Given the description of an element on the screen output the (x, y) to click on. 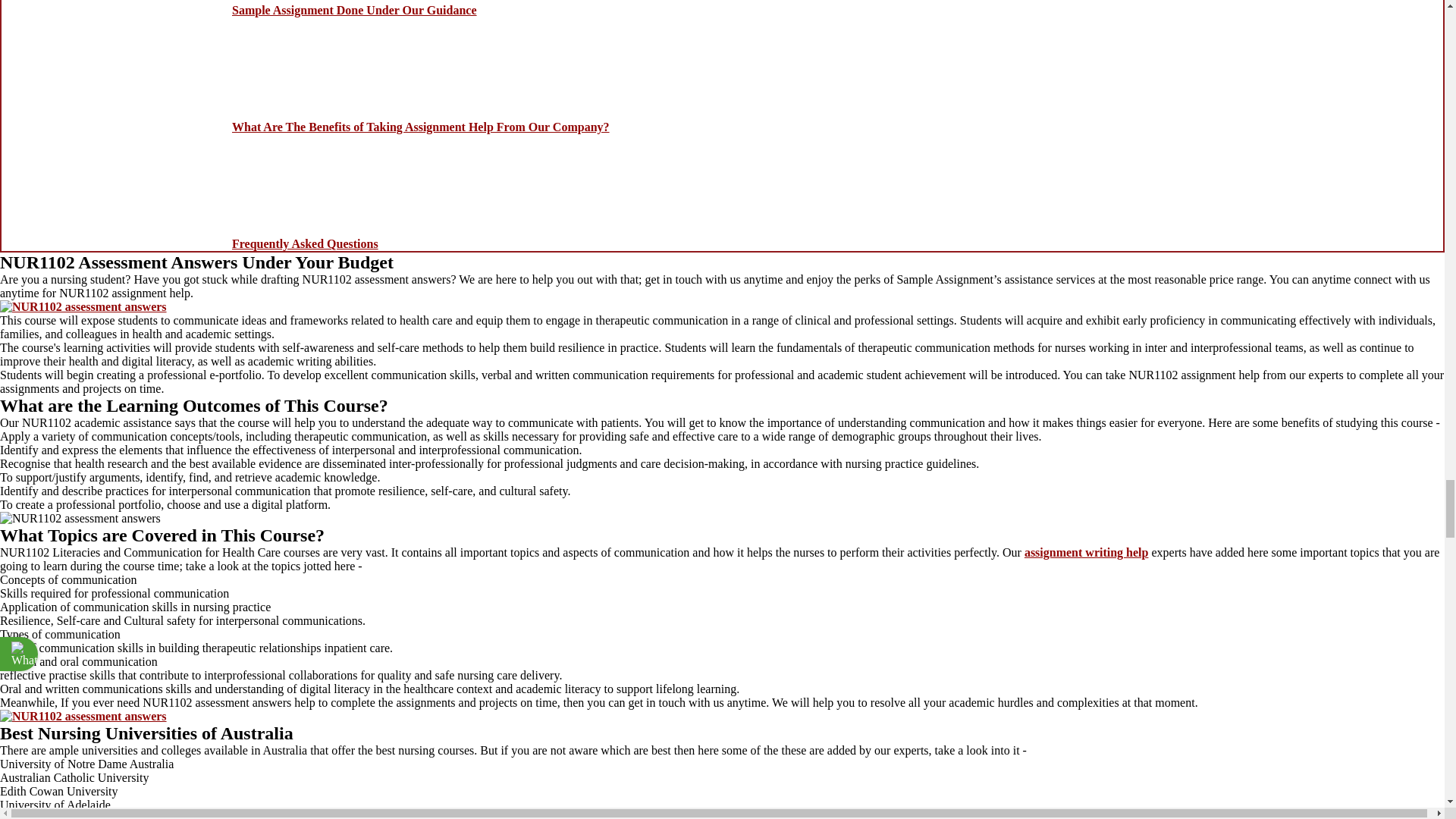
Sample Assignment Done Under Our Guidance (354, 10)
Avail NUR1102 Assessment Answers! (83, 716)
Sample Assignment Done Under Our Guidance (354, 10)
Frequently Asked Questions (304, 243)
Want NUR1102 Assessment Answers? Contact us Now! (83, 306)
Frequently Asked Questions (304, 243)
